Given the description of an element on the screen output the (x, y) to click on. 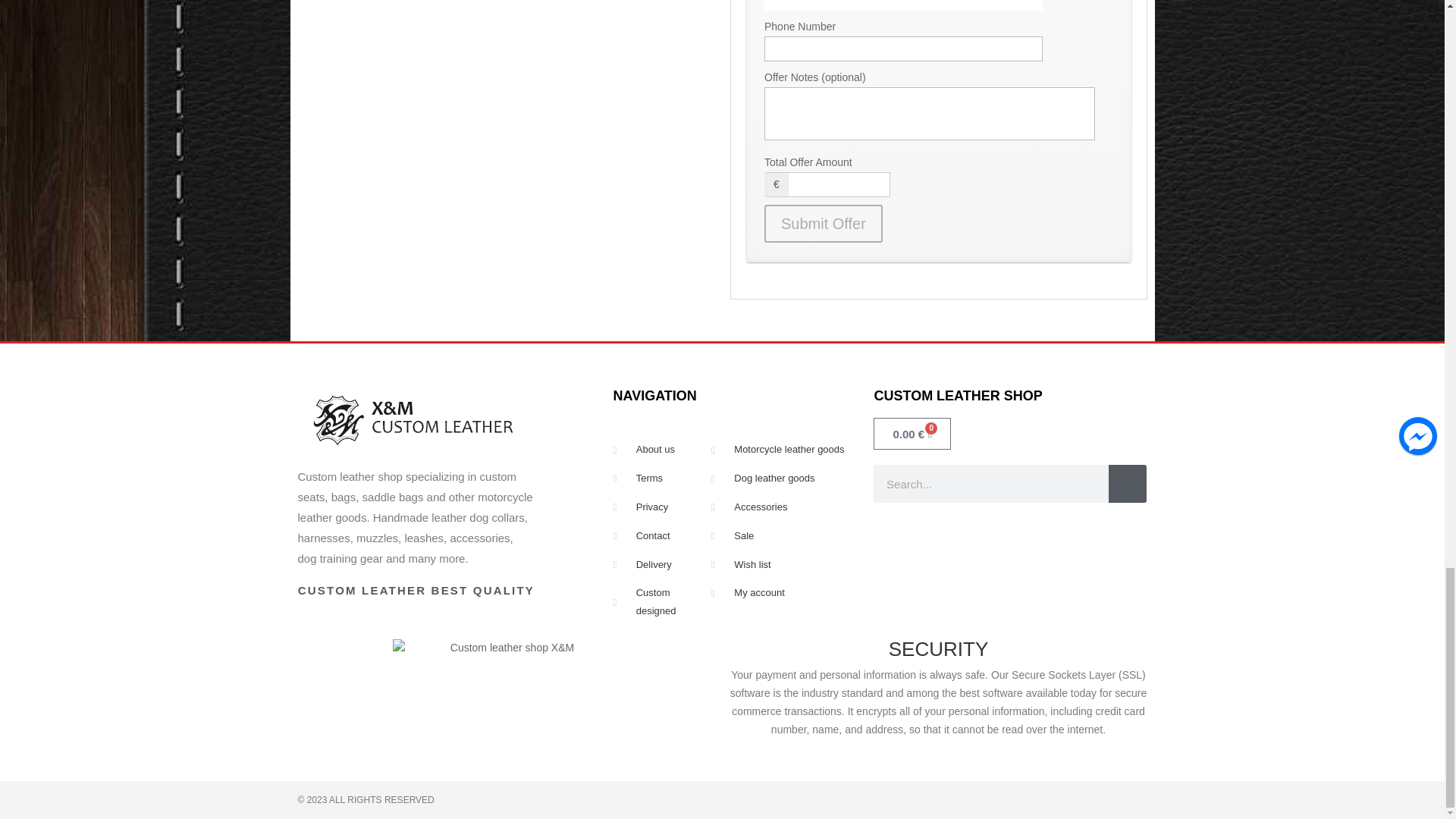
Submit Offer (823, 223)
